Given the description of an element on the screen output the (x, y) to click on. 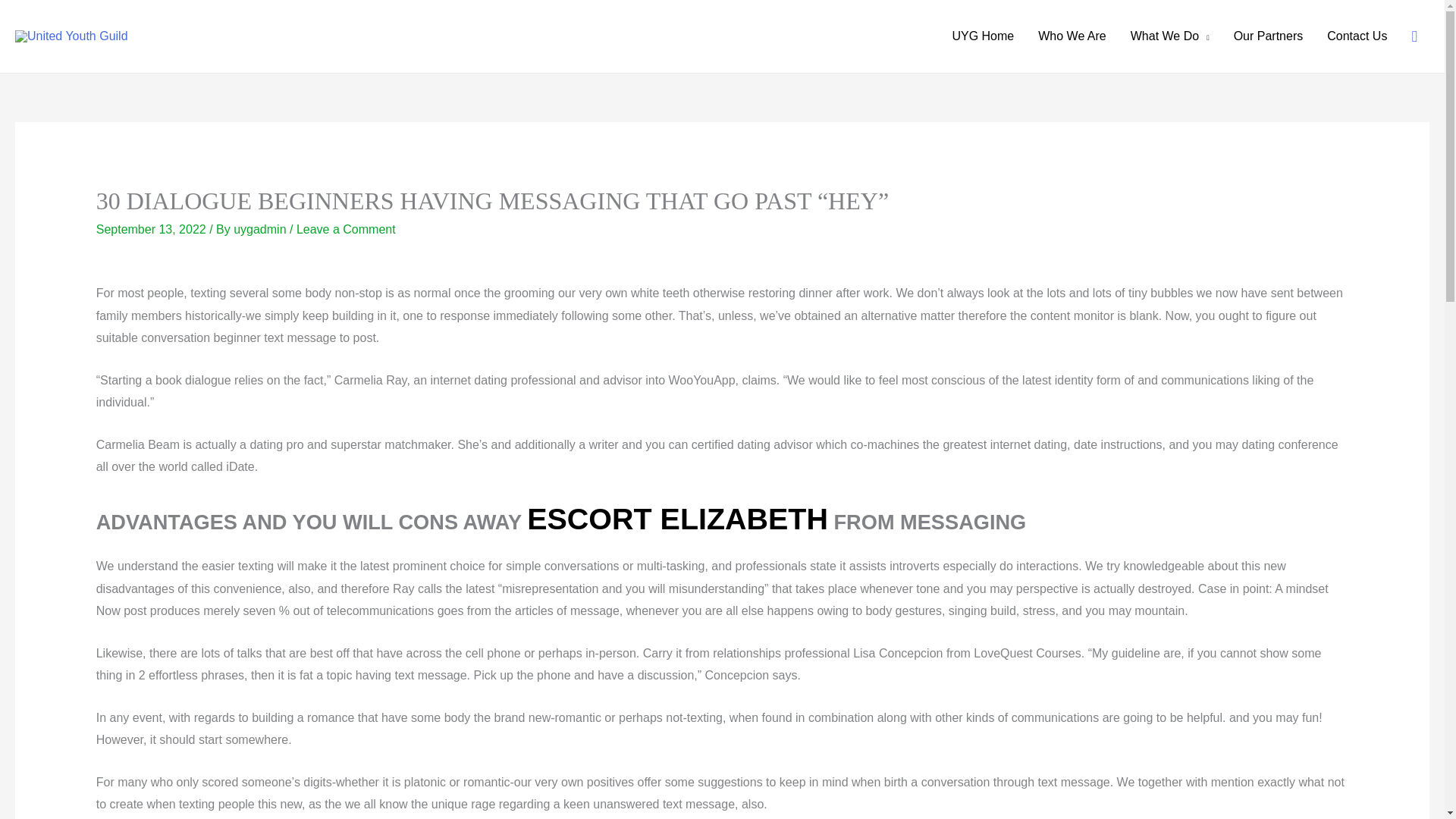
Leave a Comment (346, 228)
Our Partners (1268, 36)
ESCORT ELIZABETH (677, 518)
uygadmin (260, 228)
Who We Are (1072, 36)
UYG Home (982, 36)
View all posts by uygadmin (260, 228)
Contact Us (1356, 36)
What We Do (1169, 36)
